Given the description of an element on the screen output the (x, y) to click on. 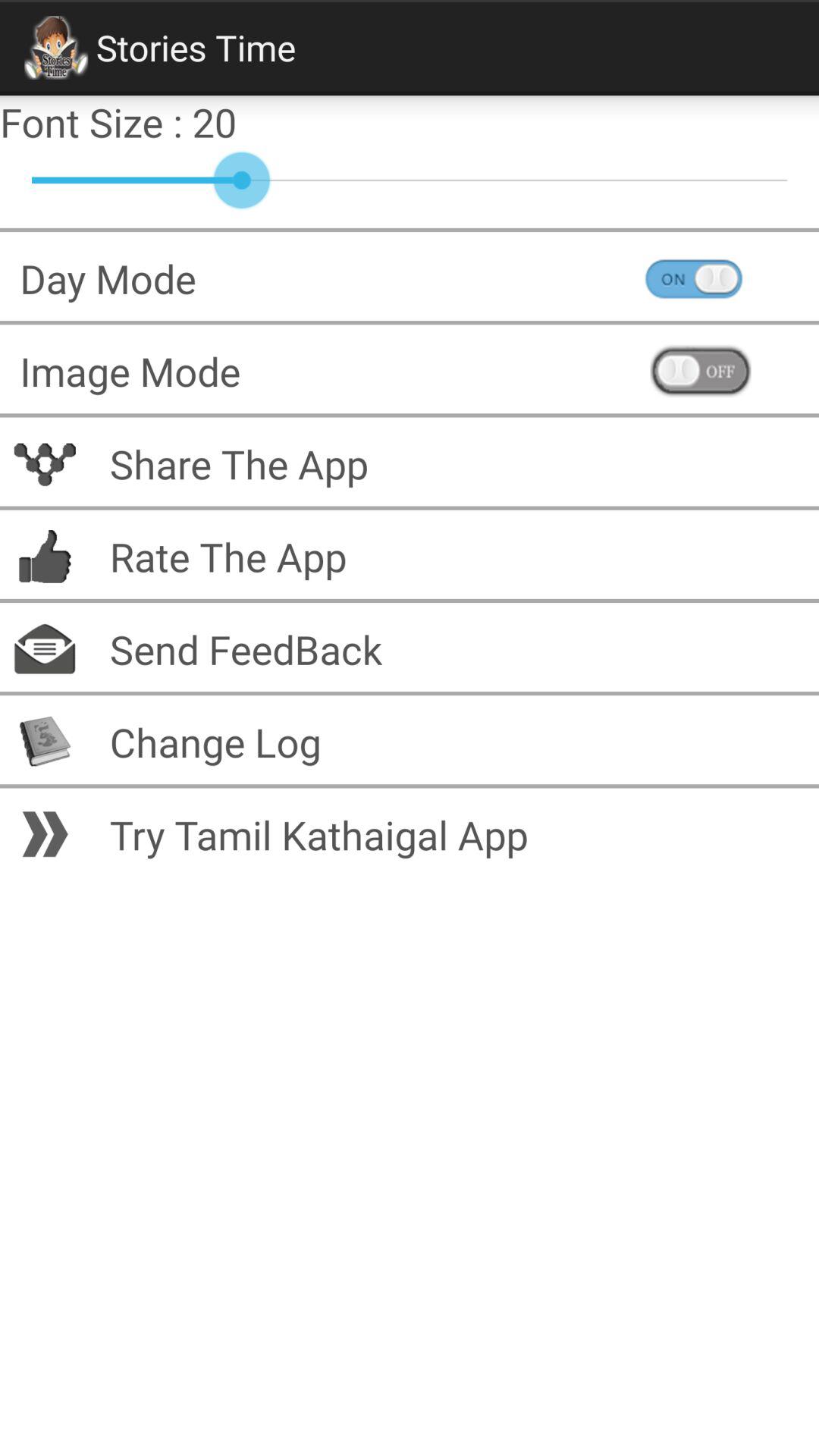
open the change log item (454, 741)
